Given the description of an element on the screen output the (x, y) to click on. 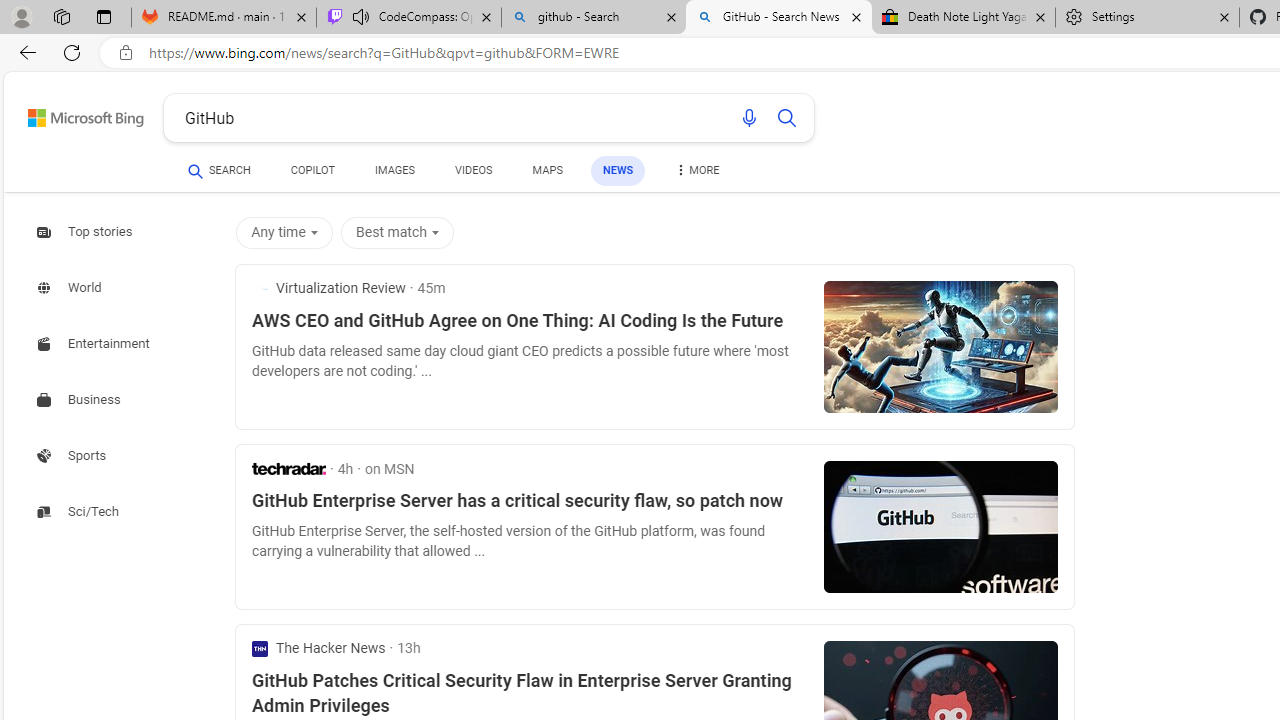
Search using voice (748, 117)
Search news about Top stories (86, 231)
Dropdown Menu (696, 170)
SEARCH (219, 170)
Search news about Entertainment (95, 344)
MAPS (546, 173)
Best match (397, 232)
COPILOT (311, 173)
NEWS (618, 170)
